Given the description of an element on the screen output the (x, y) to click on. 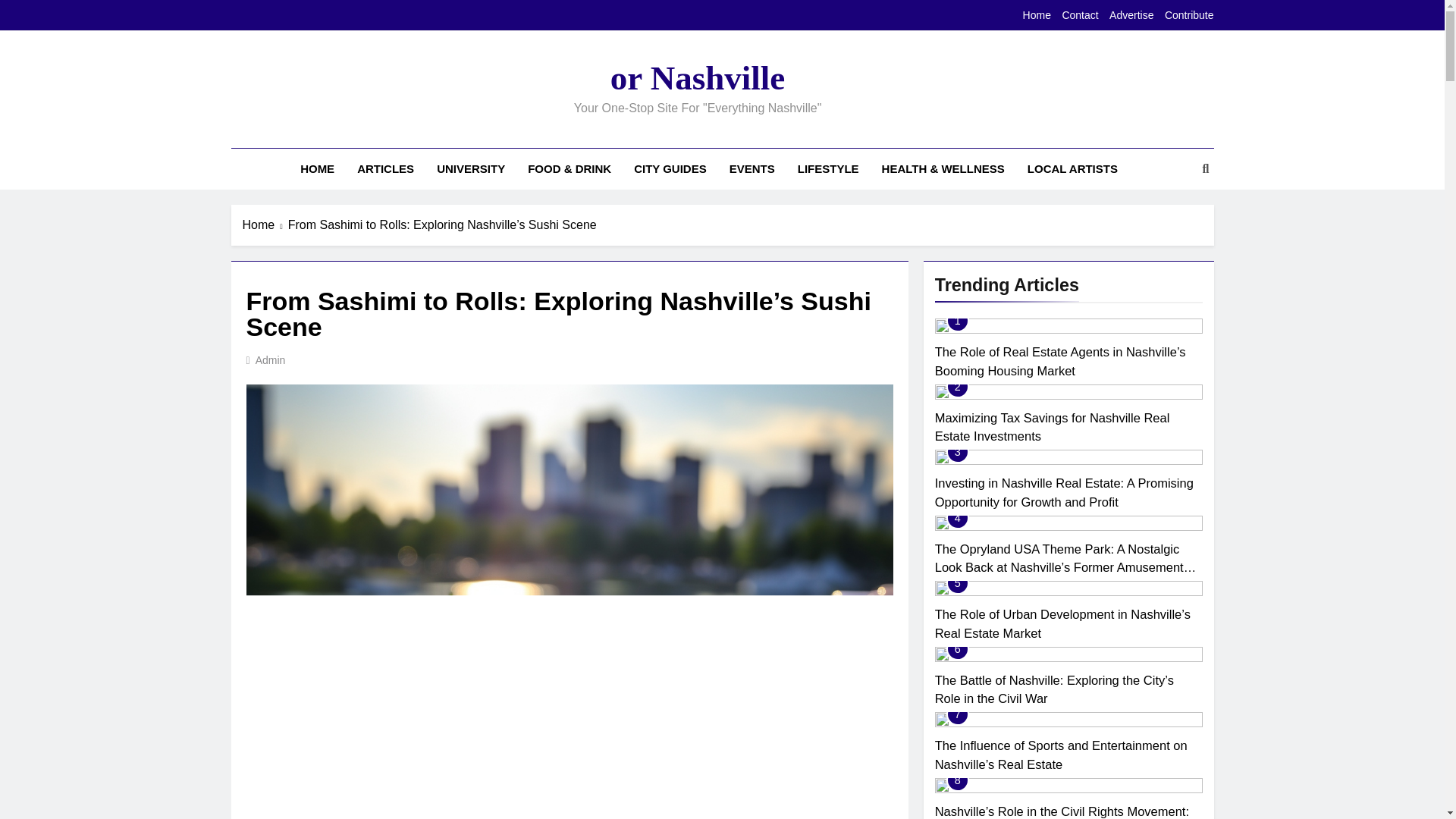
Admin (270, 359)
CITY GUIDES (670, 168)
Contact (1079, 15)
LOCAL ARTISTS (1072, 168)
ARTICLES (385, 168)
HOME (317, 168)
Home (1037, 15)
EVENTS (751, 168)
Contribute (1189, 15)
LIFESTYLE (828, 168)
